Given the description of an element on the screen output the (x, y) to click on. 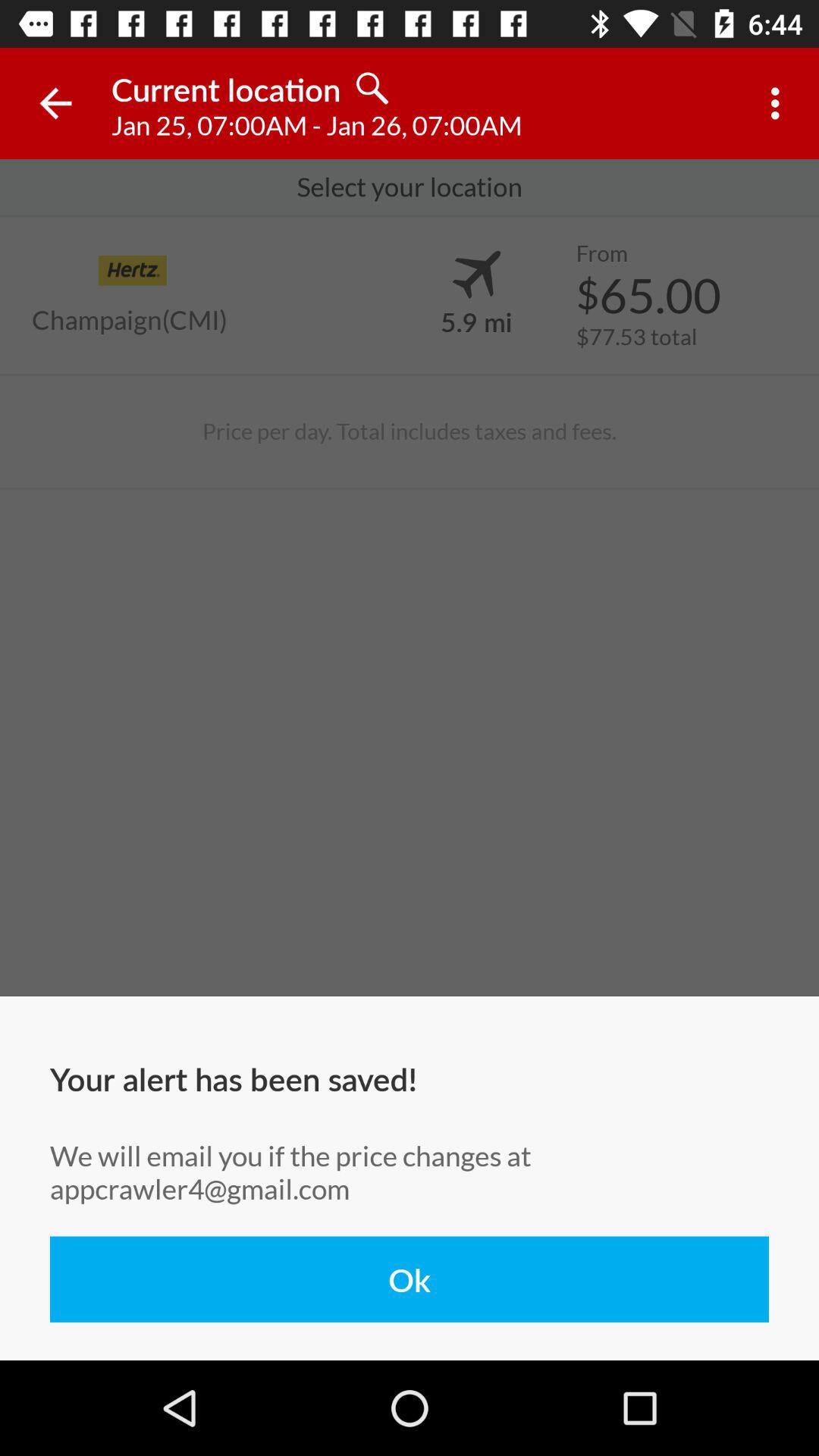
tap the item to the left of the current location (55, 103)
